Given the description of an element on the screen output the (x, y) to click on. 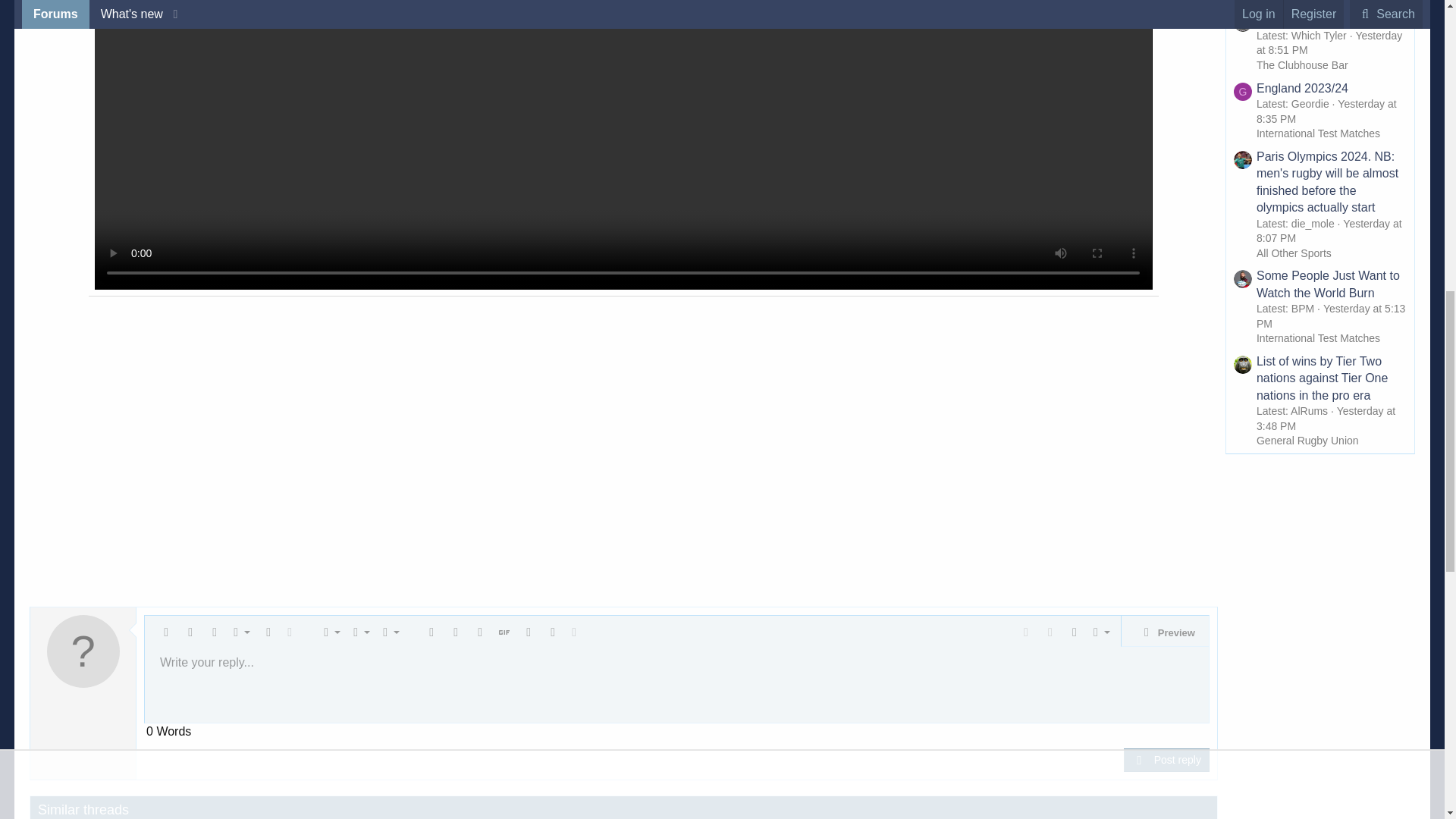
Remove formatting (165, 631)
Font size (238, 631)
Bold (190, 631)
Font size (238, 631)
Remove formatting (165, 631)
Italic (214, 631)
